Given the description of an element on the screen output the (x, y) to click on. 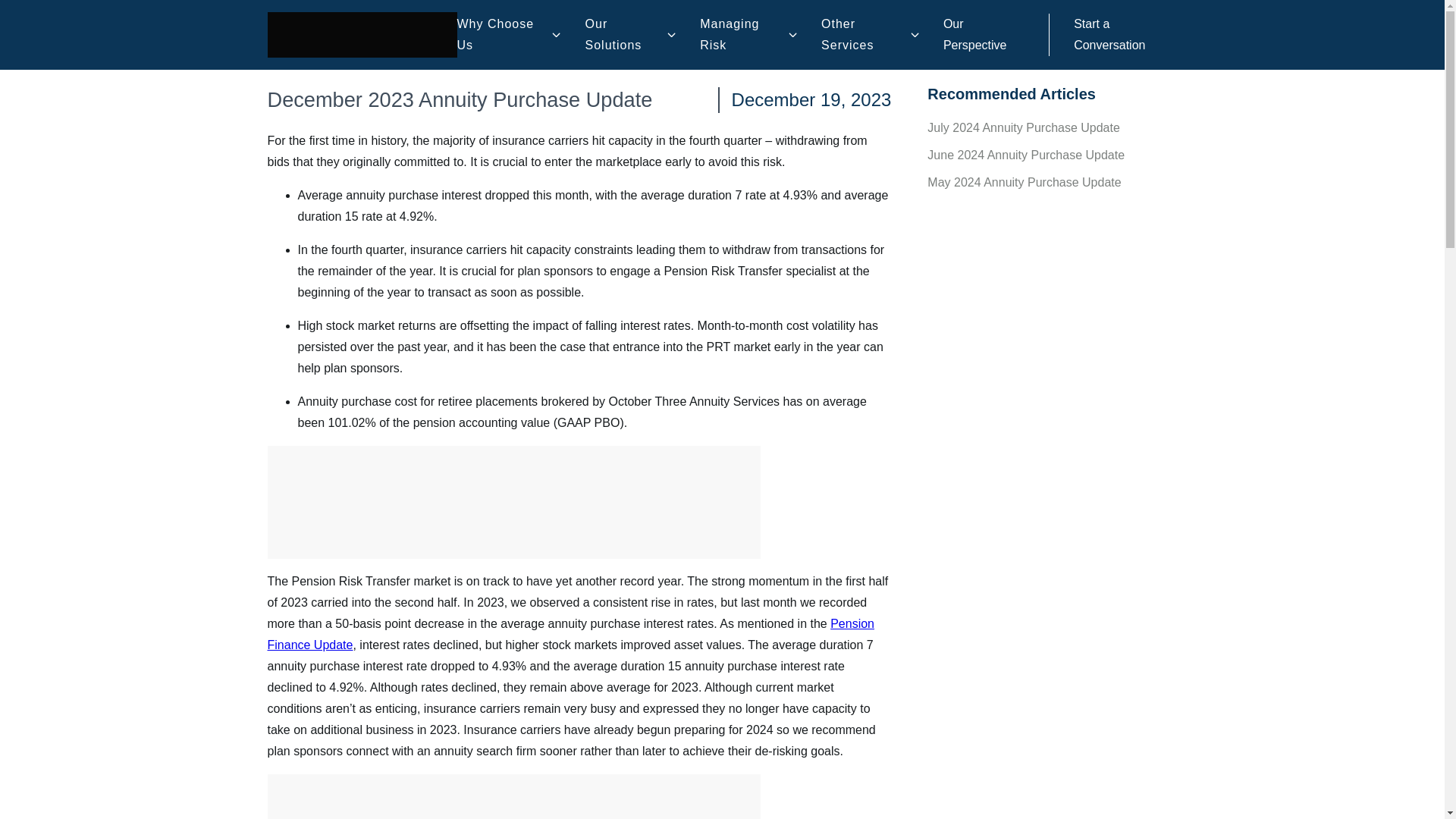
Managing Risk (742, 34)
Other Services (863, 34)
Pension Finance Update (570, 634)
July 2024 Annuity Purchase Update (1023, 127)
Our Solutions (623, 34)
Why Choose Us (502, 34)
June 2024 Annuity Purchase Update (1025, 154)
Our Perspective (975, 34)
Start a Conversation (1109, 34)
May 2024 Annuity Purchase Update (1024, 182)
